Given the description of an element on the screen output the (x, y) to click on. 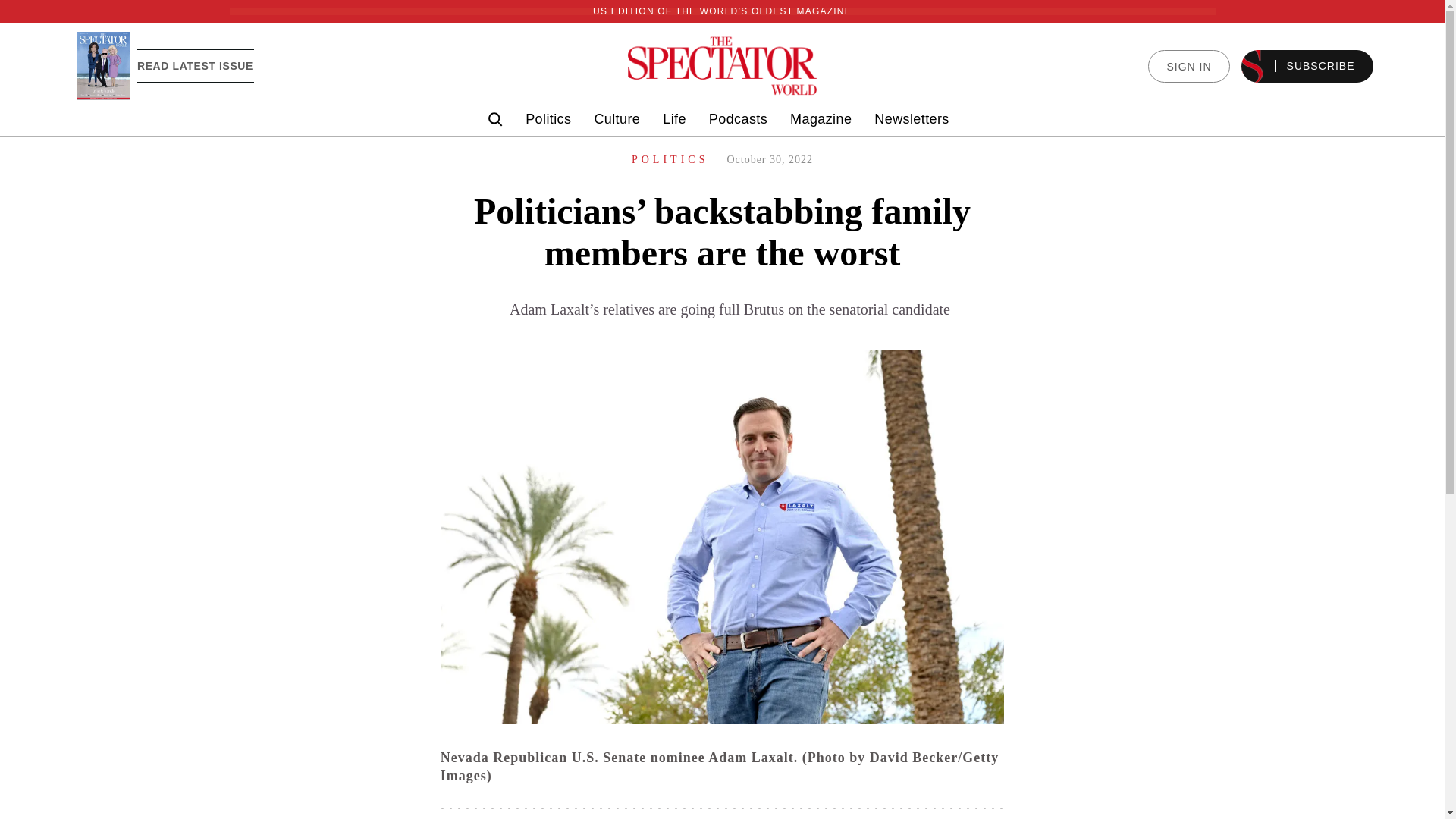
Life (673, 119)
Culture (616, 119)
READ LATEST ISSUE (194, 65)
Newsletters (911, 119)
Magazine (820, 119)
POLITICS (669, 159)
SUBSCRIBE (1307, 65)
Podcasts (737, 119)
Politics (547, 119)
SIGN IN (1188, 65)
